Given the description of an element on the screen output the (x, y) to click on. 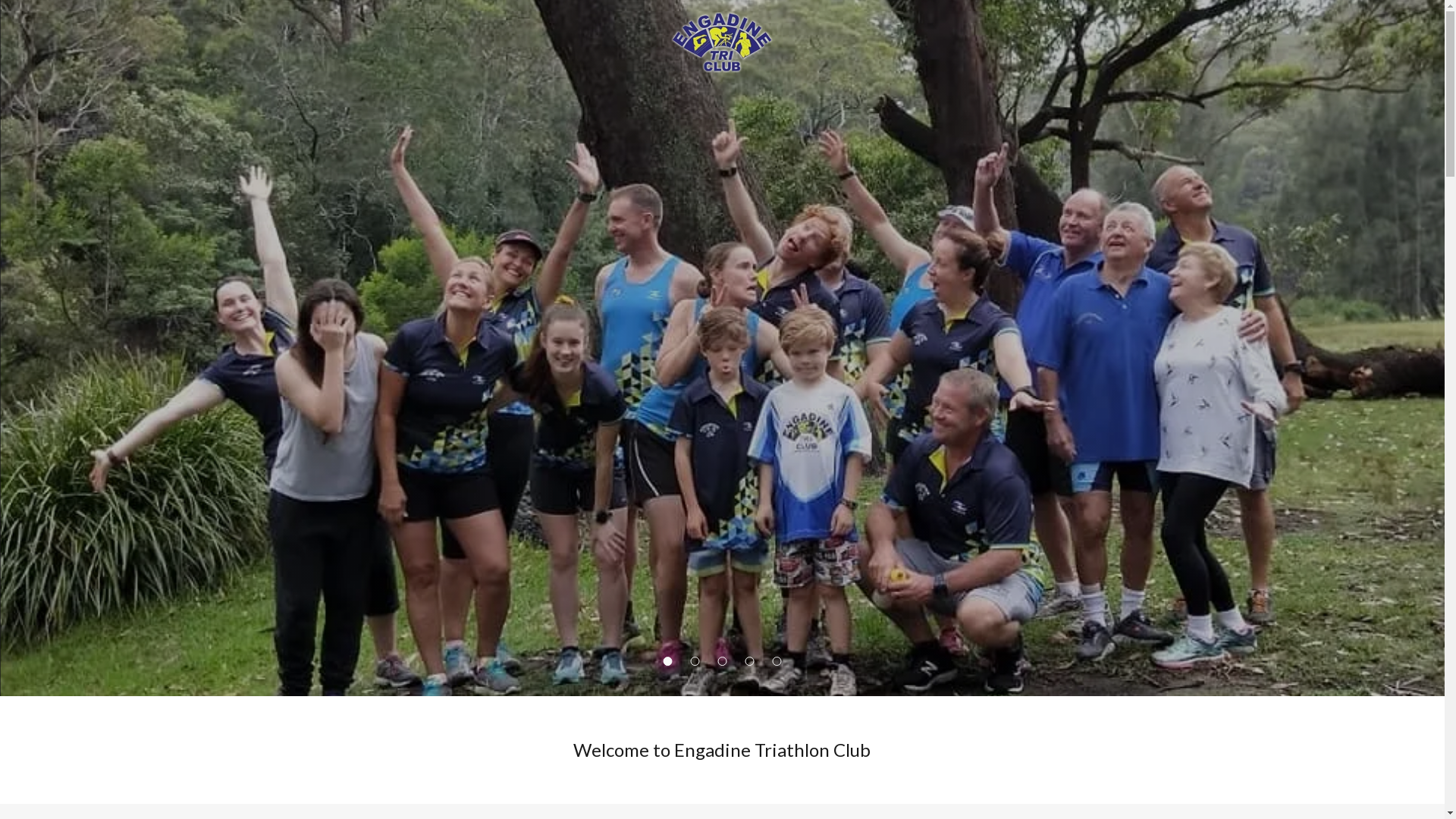
Engadine Triathlon Club Element type: hover (722, 40)
